Given the description of an element on the screen output the (x, y) to click on. 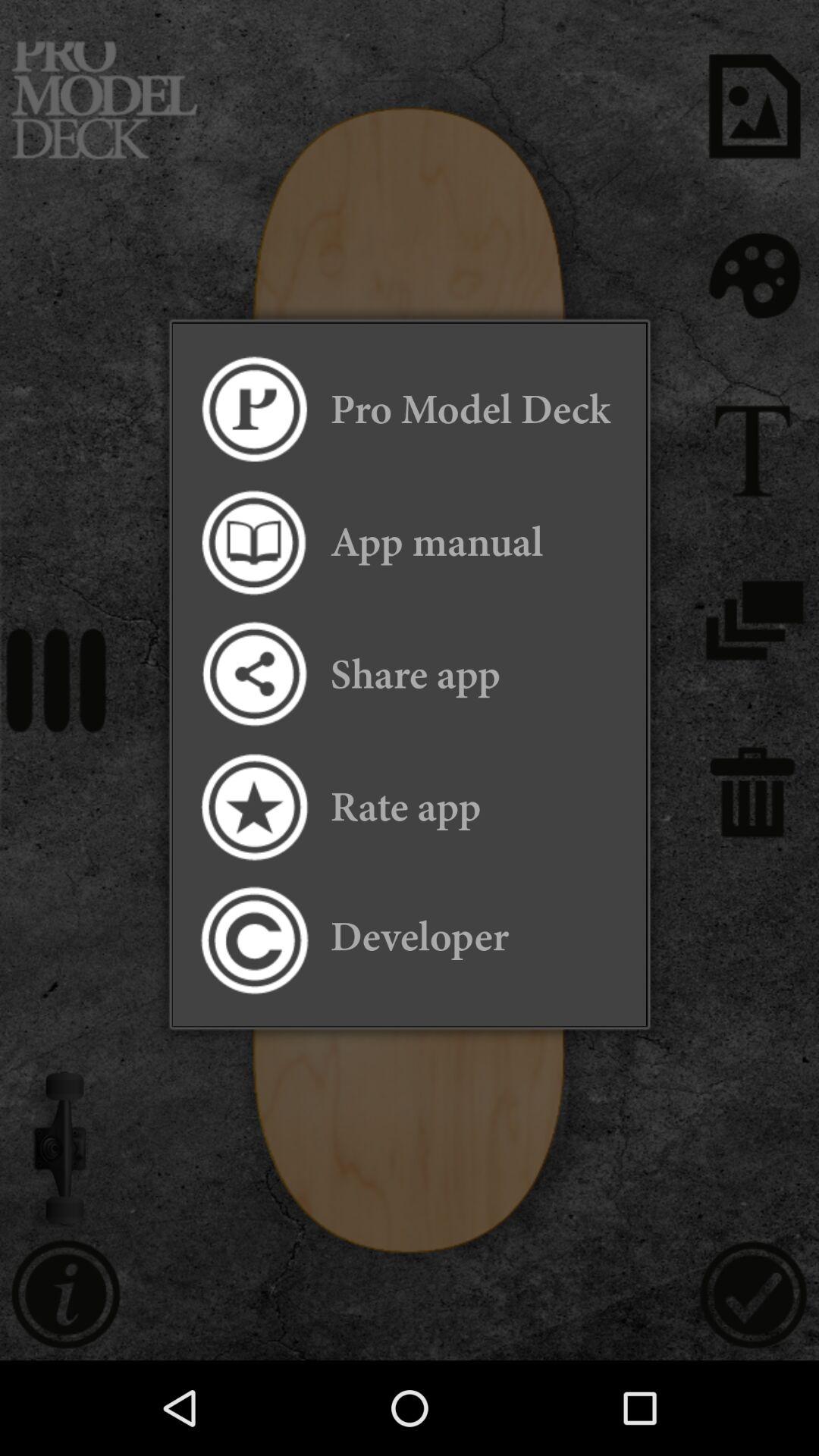
read how the app works (253, 542)
